Given the description of an element on the screen output the (x, y) to click on. 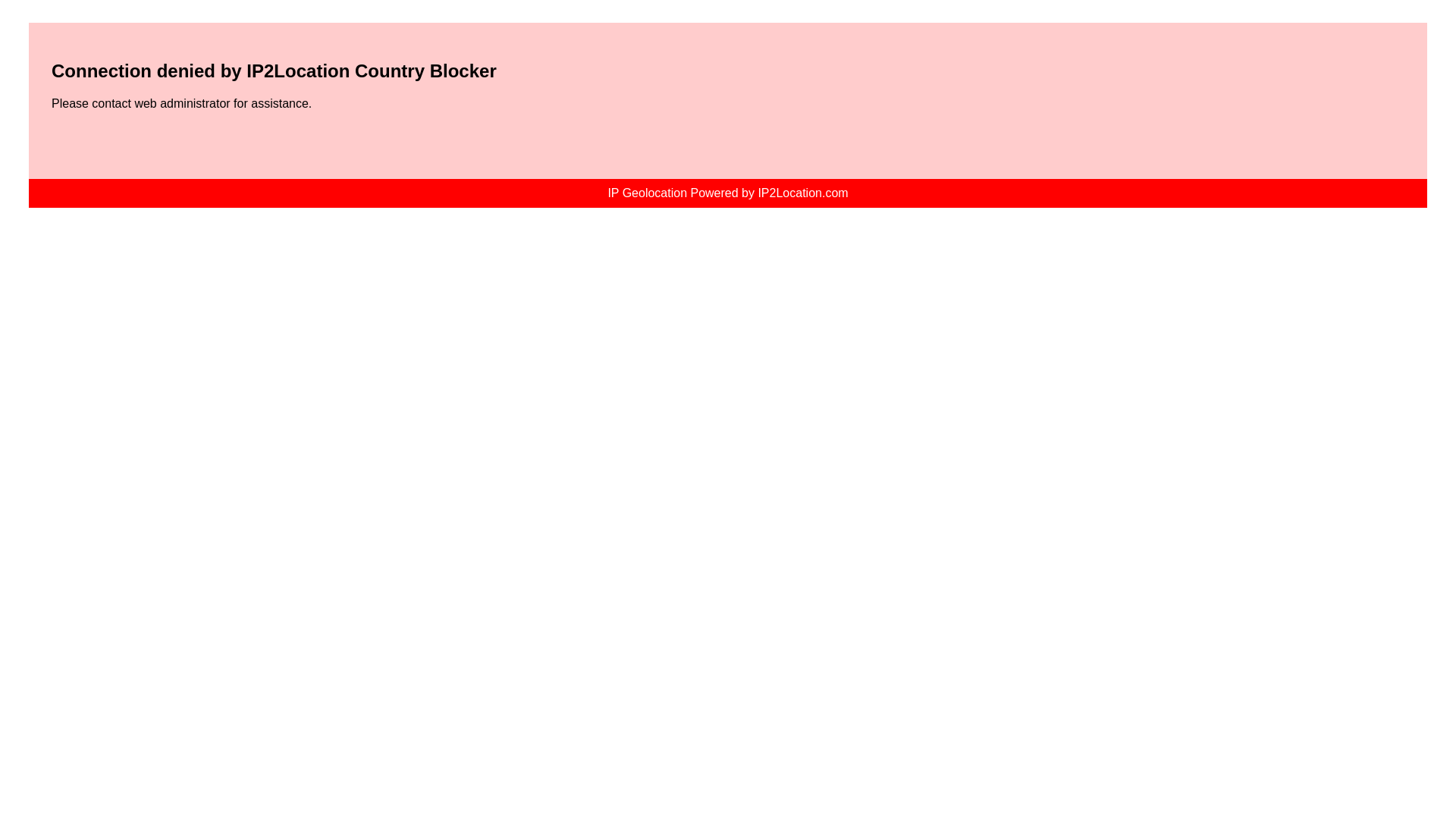
IP Geolocation Powered by IP2Location.com (727, 192)
